Given the description of an element on the screen output the (x, y) to click on. 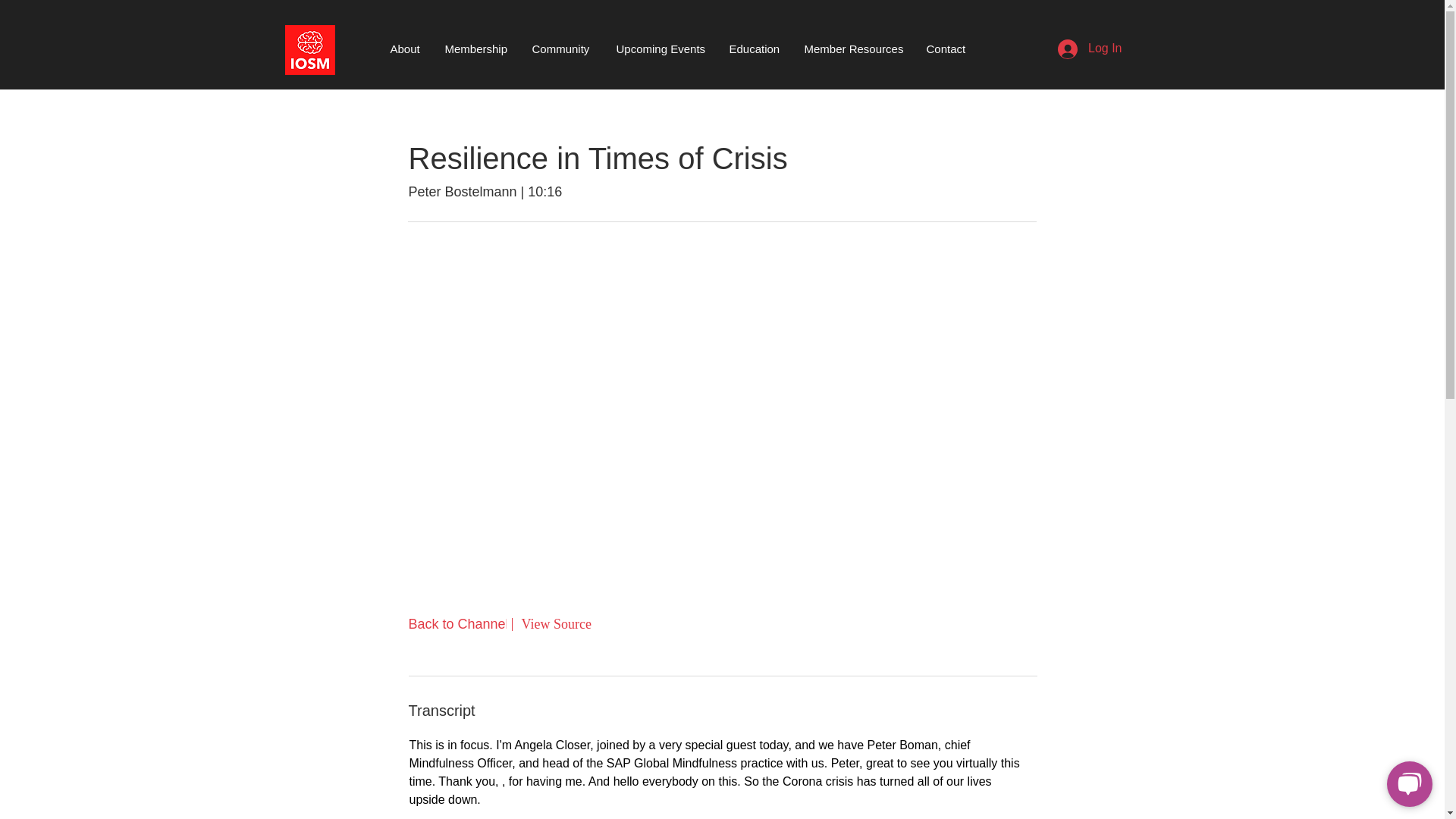
View Source (556, 623)
Community (561, 48)
Log In (1089, 49)
Membership (477, 48)
Member Resources (854, 48)
Contact (946, 48)
Education (754, 48)
About (405, 48)
Back to Channel (457, 624)
Upcoming Events (661, 48)
